Given the description of an element on the screen output the (x, y) to click on. 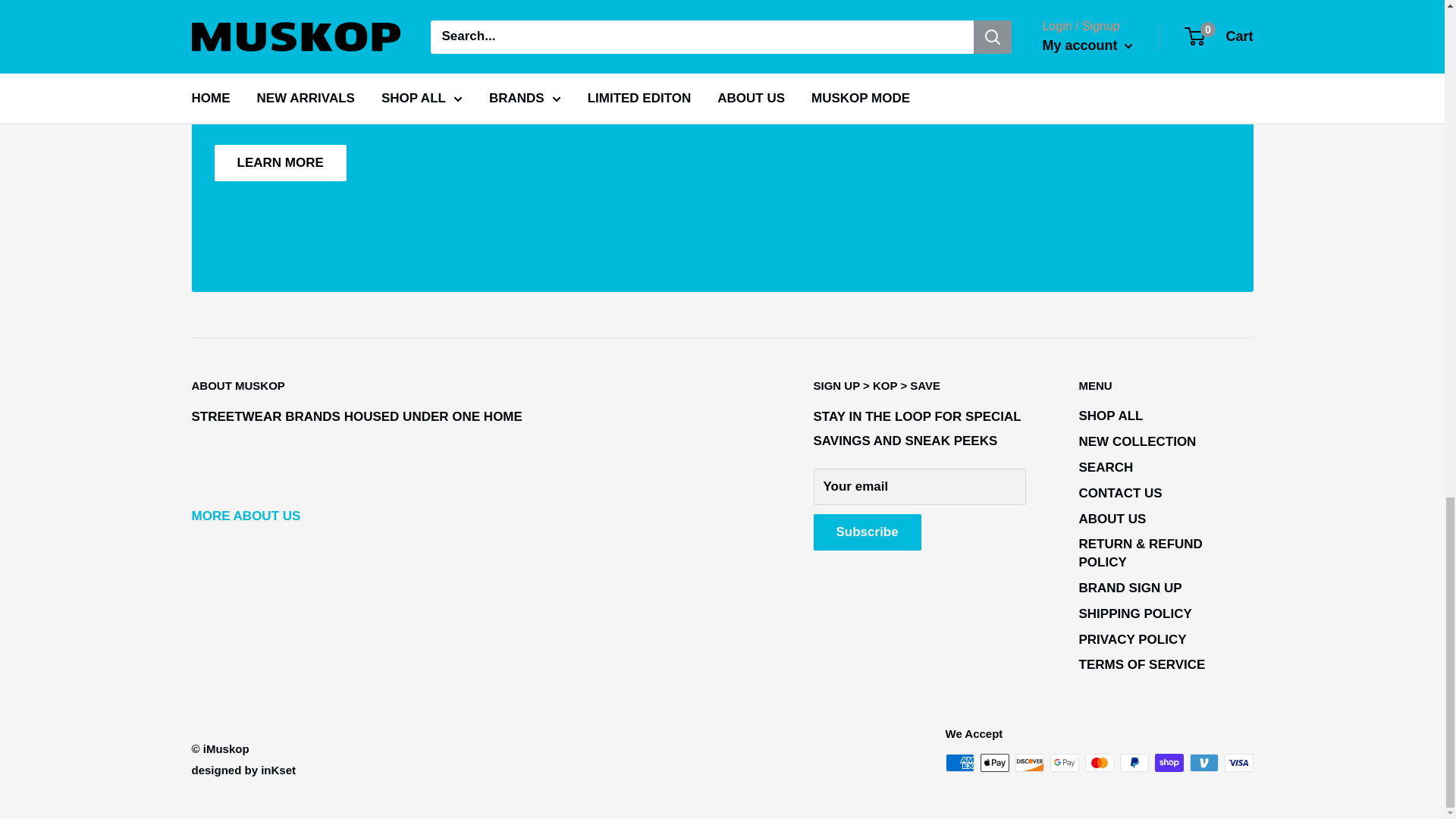
ABOUT US (244, 515)
